Given the description of an element on the screen output the (x, y) to click on. 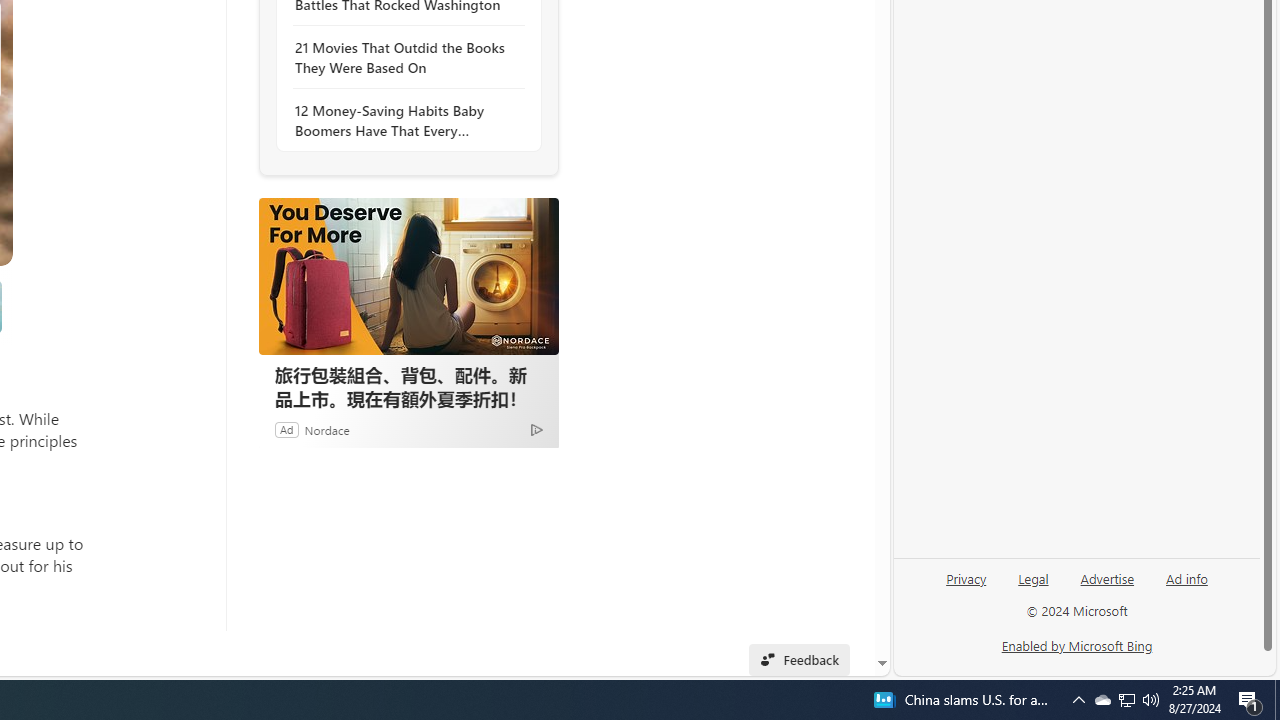
Legal (1033, 577)
